Given the description of an element on the screen output the (x, y) to click on. 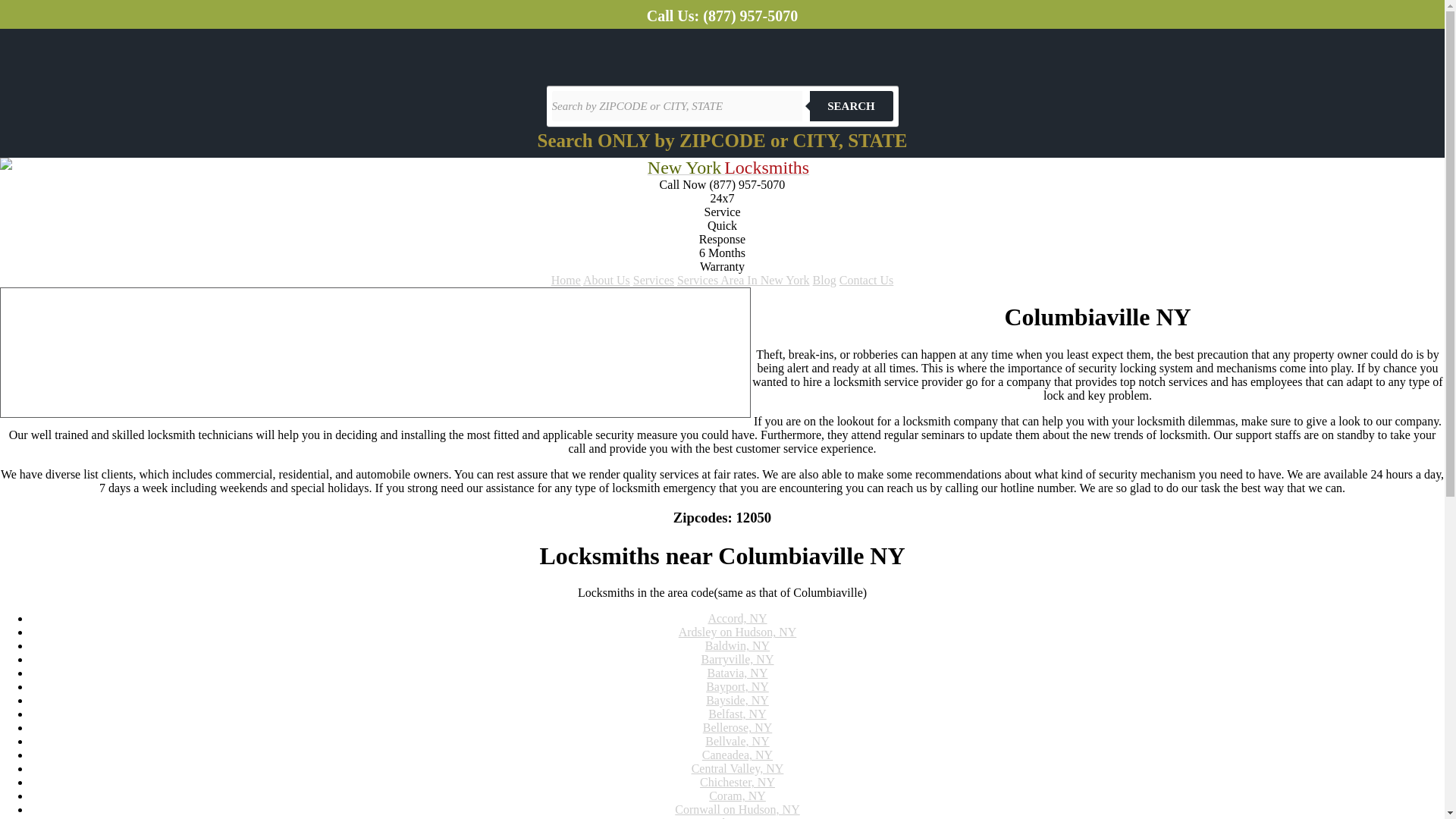
About Us (606, 279)
Bellerose, NY (738, 727)
New York Locksmiths (728, 169)
Baldwin, NY (737, 645)
Ardsley on Hudson, NY (737, 631)
Services (653, 279)
Batavia, NY (736, 672)
SEARCH (851, 105)
Chichester, NY (737, 781)
